Given the description of an element on the screen output the (x, y) to click on. 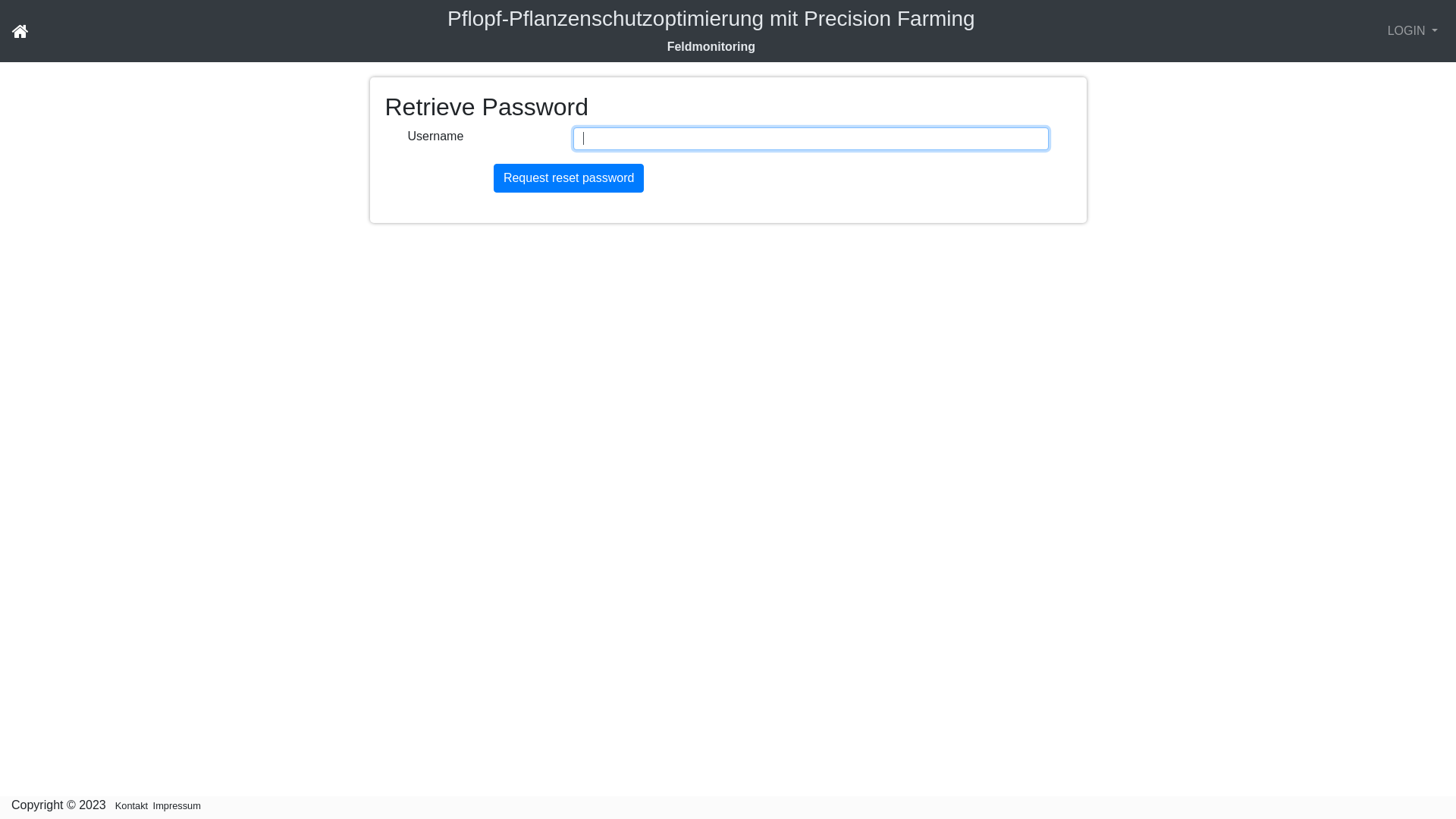
Request reset password Element type: text (568, 177)
Kontakt Element type: text (130, 805)
LOGIN Element type: text (1412, 30)
Impressum Element type: text (175, 805)
